Given the description of an element on the screen output the (x, y) to click on. 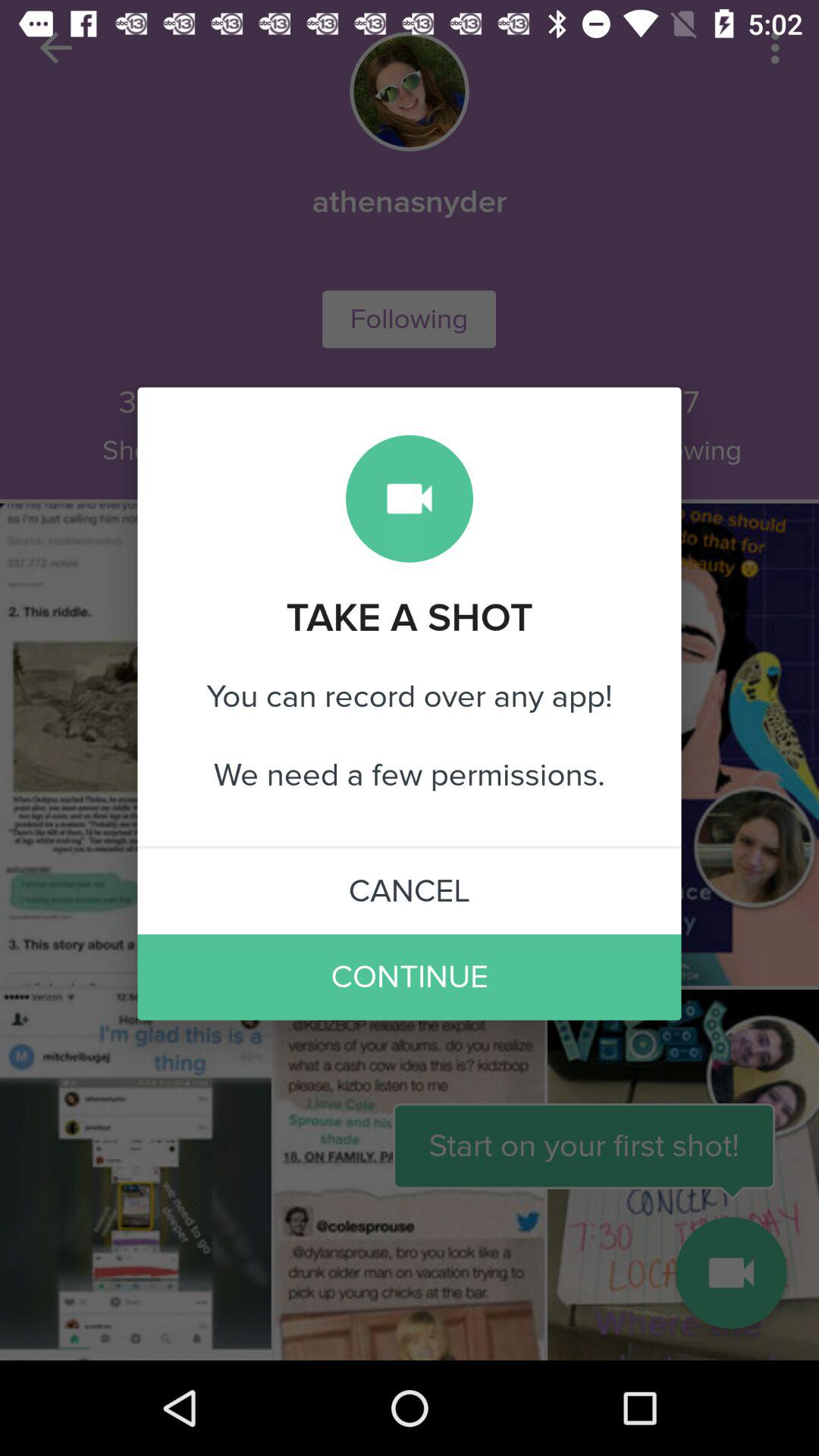
flip to cancel (409, 891)
